Given the description of an element on the screen output the (x, y) to click on. 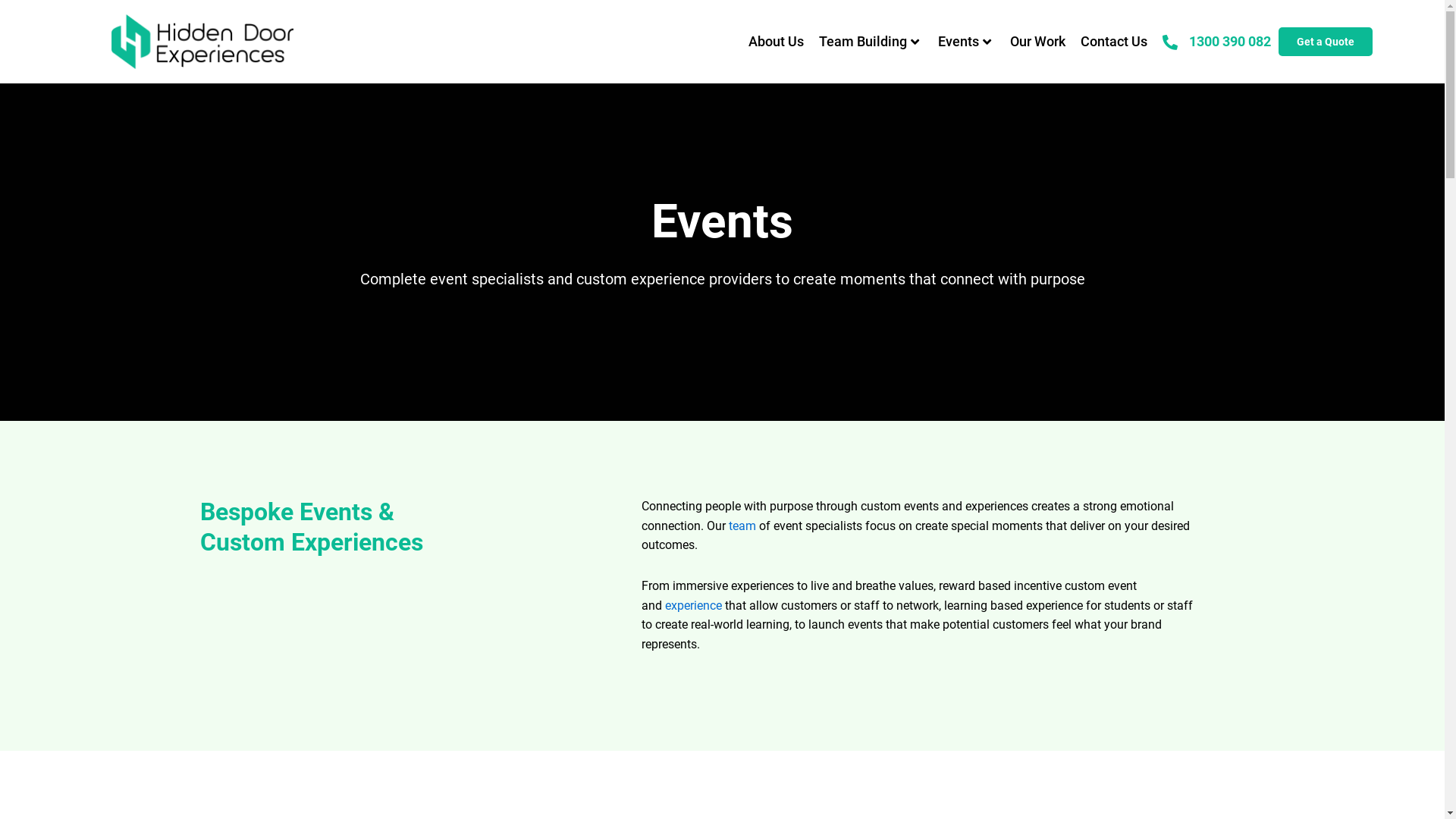
Our Work Element type: text (1037, 41)
experience Element type: text (693, 605)
Events Element type: text (966, 41)
1300 390 082 Element type: text (1229, 41)
Team Building Element type: text (870, 41)
Get a Quote Element type: text (1325, 41)
team Element type: text (742, 525)
About Us Element type: text (775, 41)
Contact Us Element type: text (1113, 41)
